Given the description of an element on the screen output the (x, y) to click on. 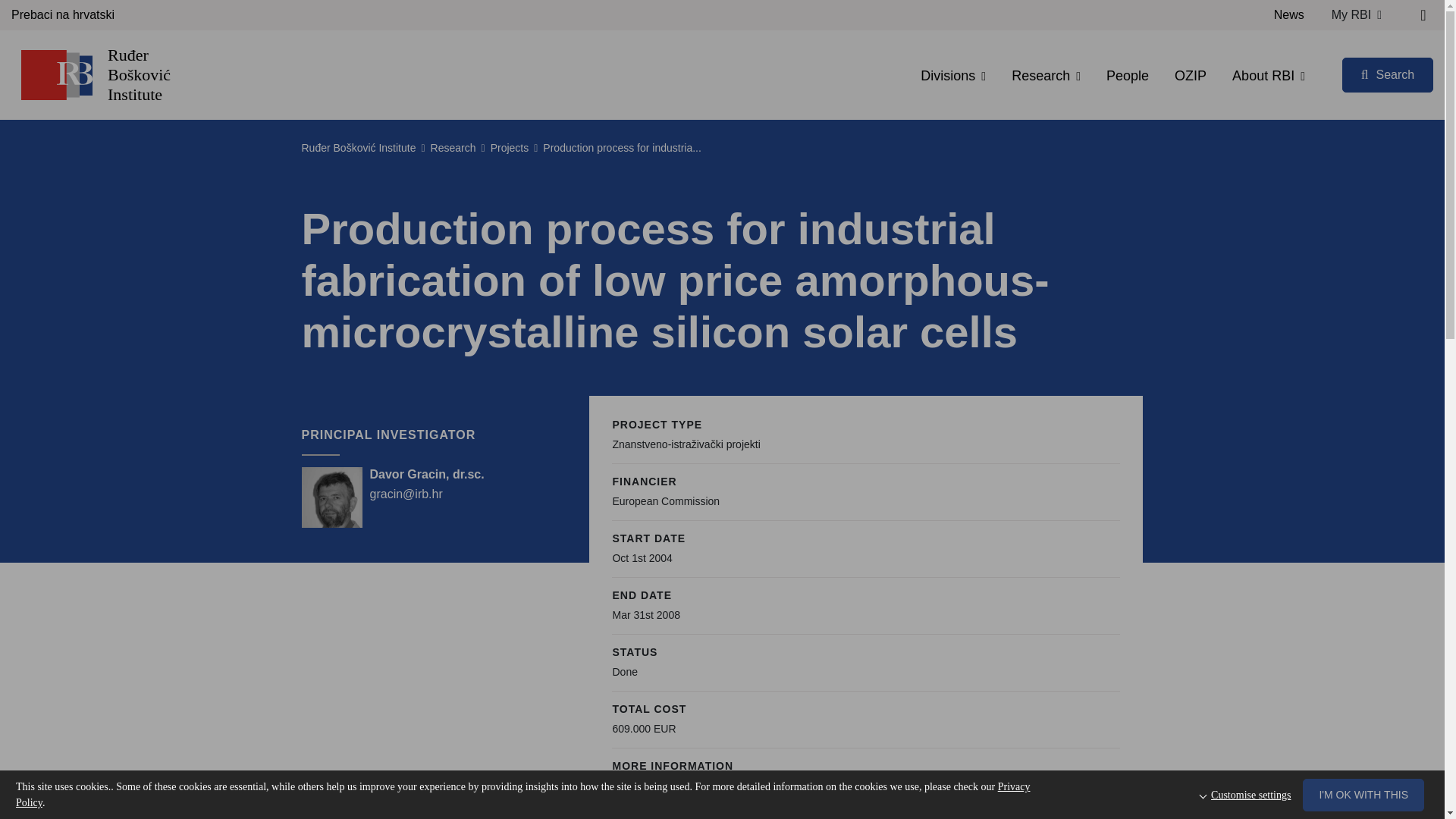
Search (1387, 74)
Back to home page (56, 74)
News (1289, 14)
OZIP (1190, 75)
Prebaci na hrvatski (63, 15)
People (1127, 75)
Prebaci na hrvatski (63, 15)
